Given the description of an element on the screen output the (x, y) to click on. 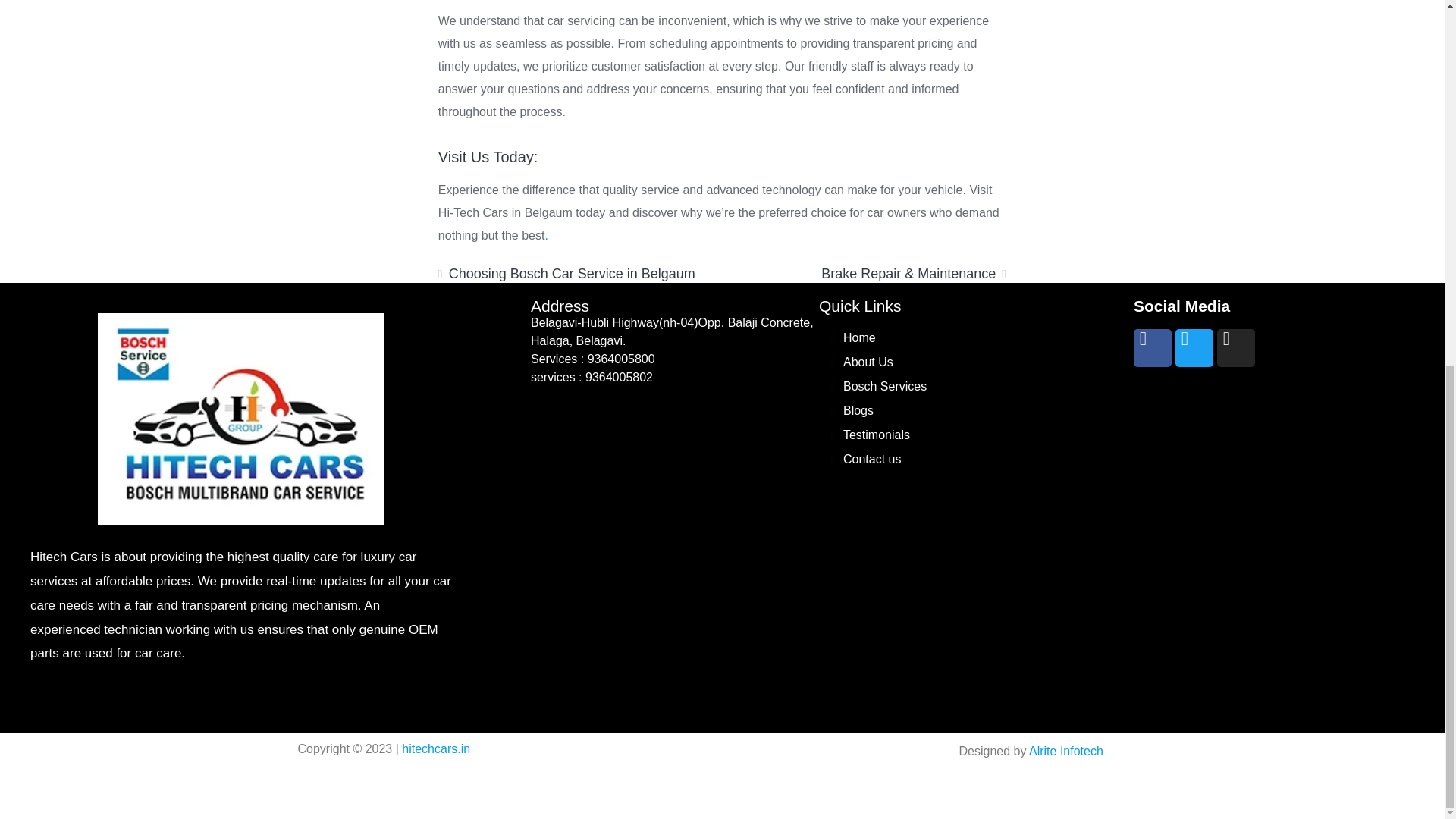
Contact us (872, 459)
Testimonials (876, 434)
About Us (868, 361)
hitechcars.in (435, 748)
Alrite Infotech (1066, 750)
Choosing Bosch Car Service in Belgaum (566, 273)
Blogs (858, 410)
Bosch Services (884, 386)
Home (859, 337)
